Given the description of an element on the screen output the (x, y) to click on. 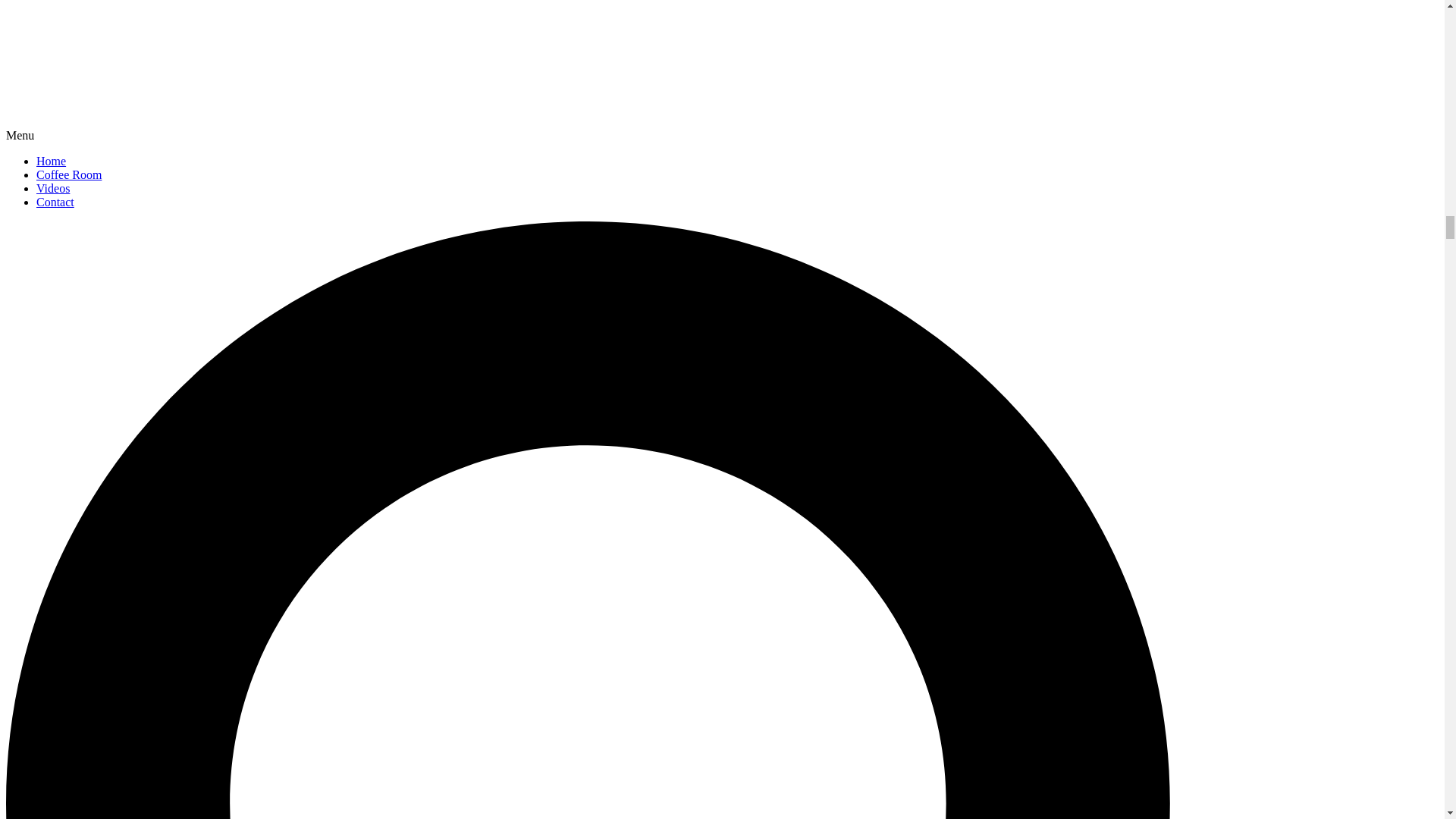
Home (50, 160)
Coffee Room (68, 174)
Contact (55, 201)
Videos (52, 187)
